Given the description of an element on the screen output the (x, y) to click on. 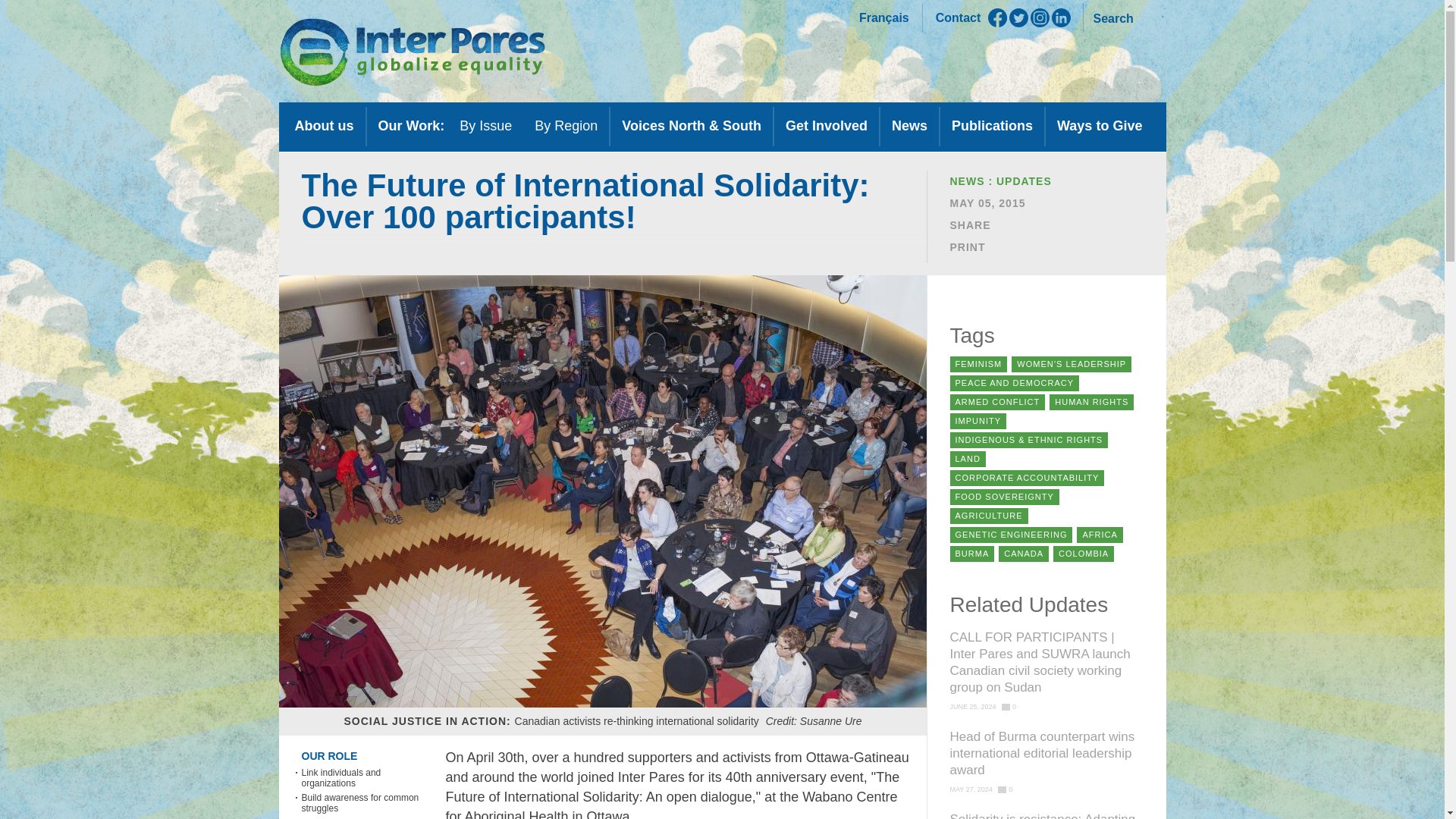
About us (324, 129)
Facebook (997, 17)
Search (1124, 17)
Our Work: (411, 129)
By Issue (485, 129)
Printer friendly version (978, 246)
Contact (958, 17)
Inter Pares globalize equality (412, 52)
Instagram (1039, 17)
LinkedIn (1060, 17)
